Given the description of an element on the screen output the (x, y) to click on. 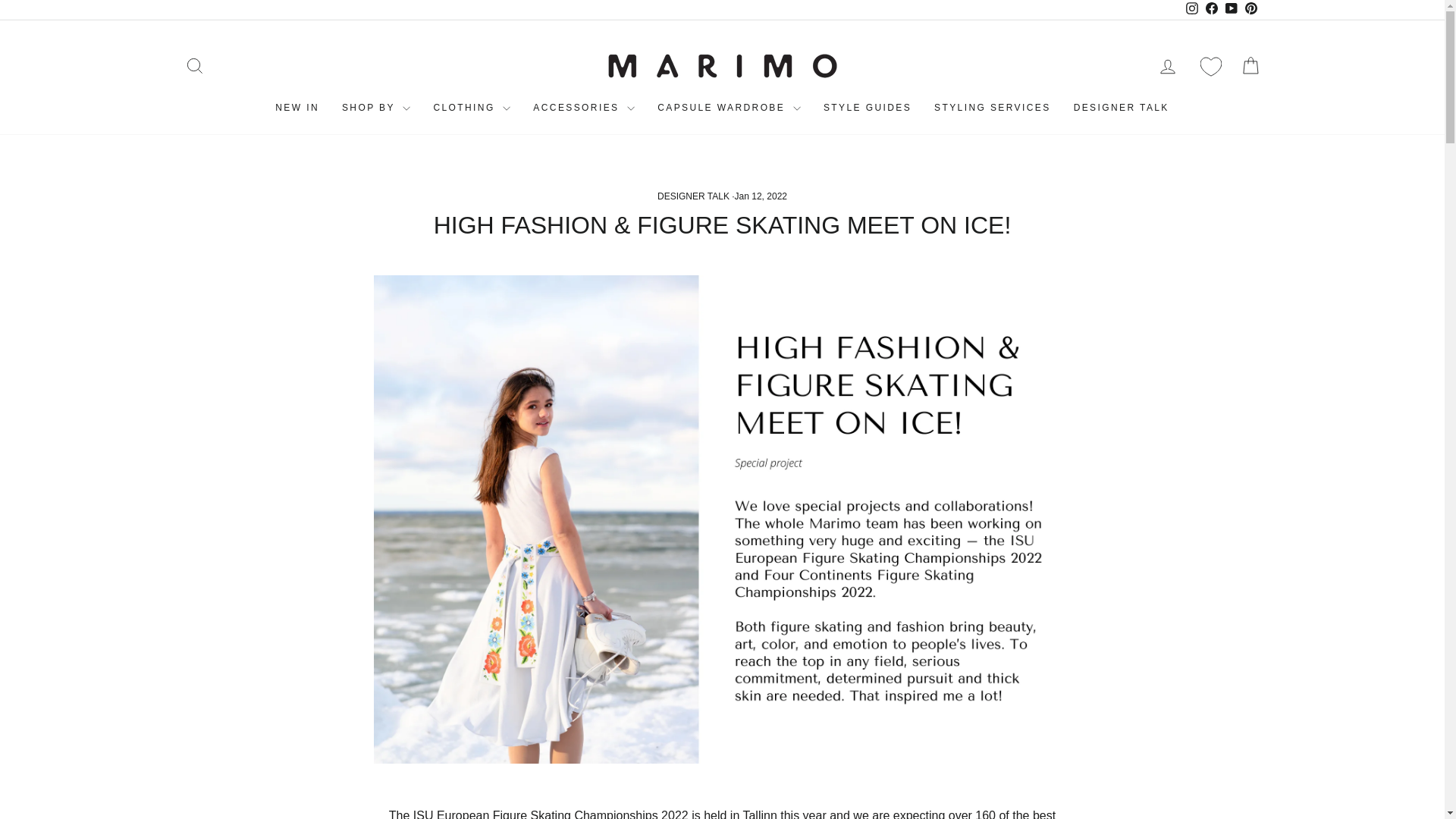
Marimo Fashion on YouTube (1230, 9)
WISHLIST (1210, 66)
Marimo Fashion on Pinterest (1250, 9)
Marimo Fashion on Instagram (1190, 9)
instagram (1192, 8)
ICON-SEARCH (194, 65)
ACCOUNT (1167, 66)
Marimo Fashion on Facebook (1211, 9)
